Given the description of an element on the screen output the (x, y) to click on. 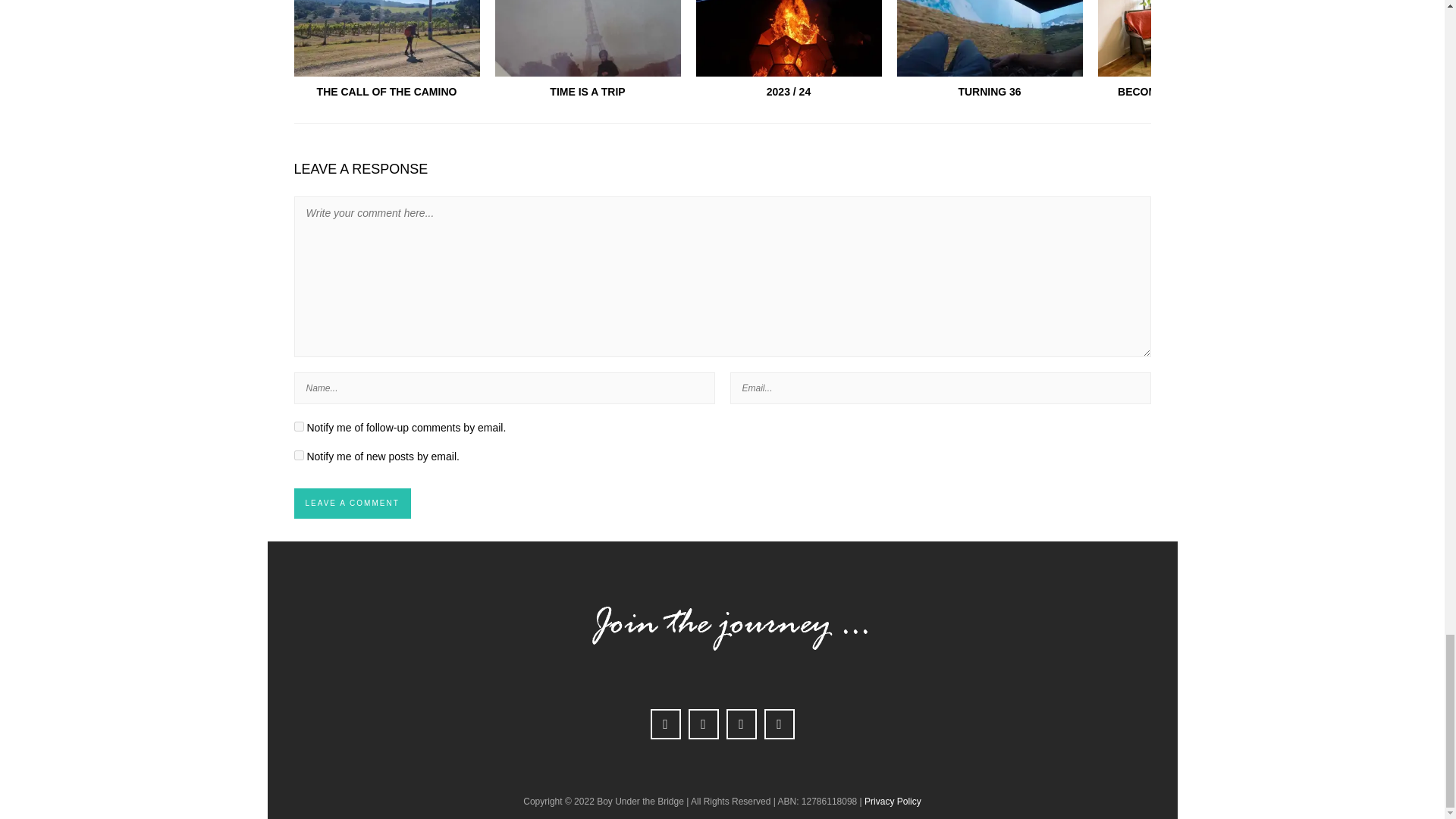
subscribe (299, 426)
Leave a comment (352, 503)
subscribe (299, 455)
